Given the description of an element on the screen output the (x, y) to click on. 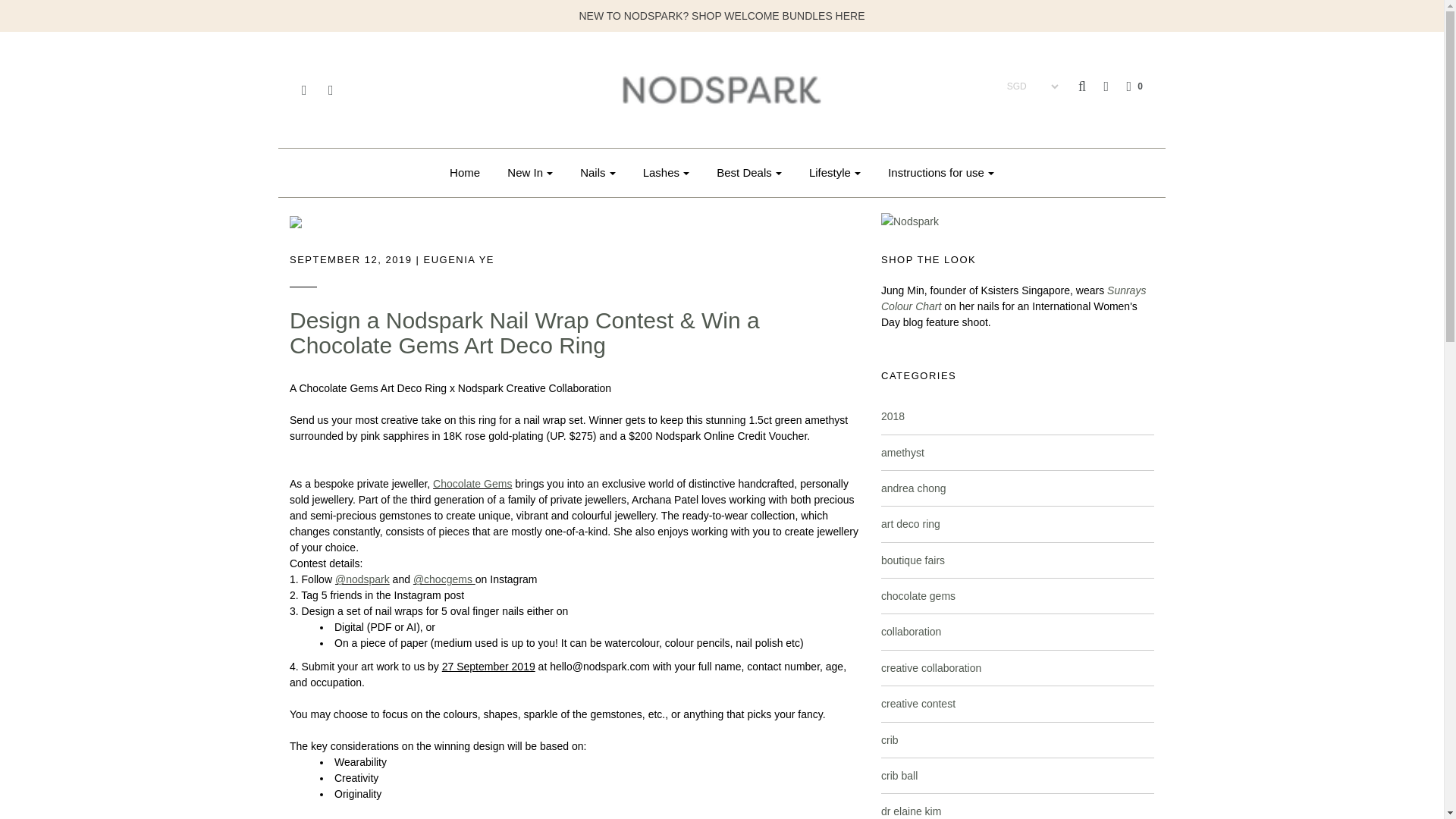
Show articles tagged andrea chong (913, 488)
Show articles tagged dr elaine kim (910, 811)
Show articles tagged crib (889, 739)
Show articles tagged chocolate gems (917, 595)
Search (1082, 86)
NEW TO NODSPARK? SHOP WELCOME BUNDLES HERE (722, 15)
Search (1425, 5)
Show articles tagged art deco ring (910, 523)
Show articles tagged collaboration (910, 631)
Show articles tagged crib ball (898, 775)
Show articles tagged amethyst (902, 451)
Cart (1126, 86)
Show articles tagged creative contest (917, 703)
Show articles tagged boutique fairs (912, 560)
Log in (1097, 86)
